Given the description of an element on the screen output the (x, y) to click on. 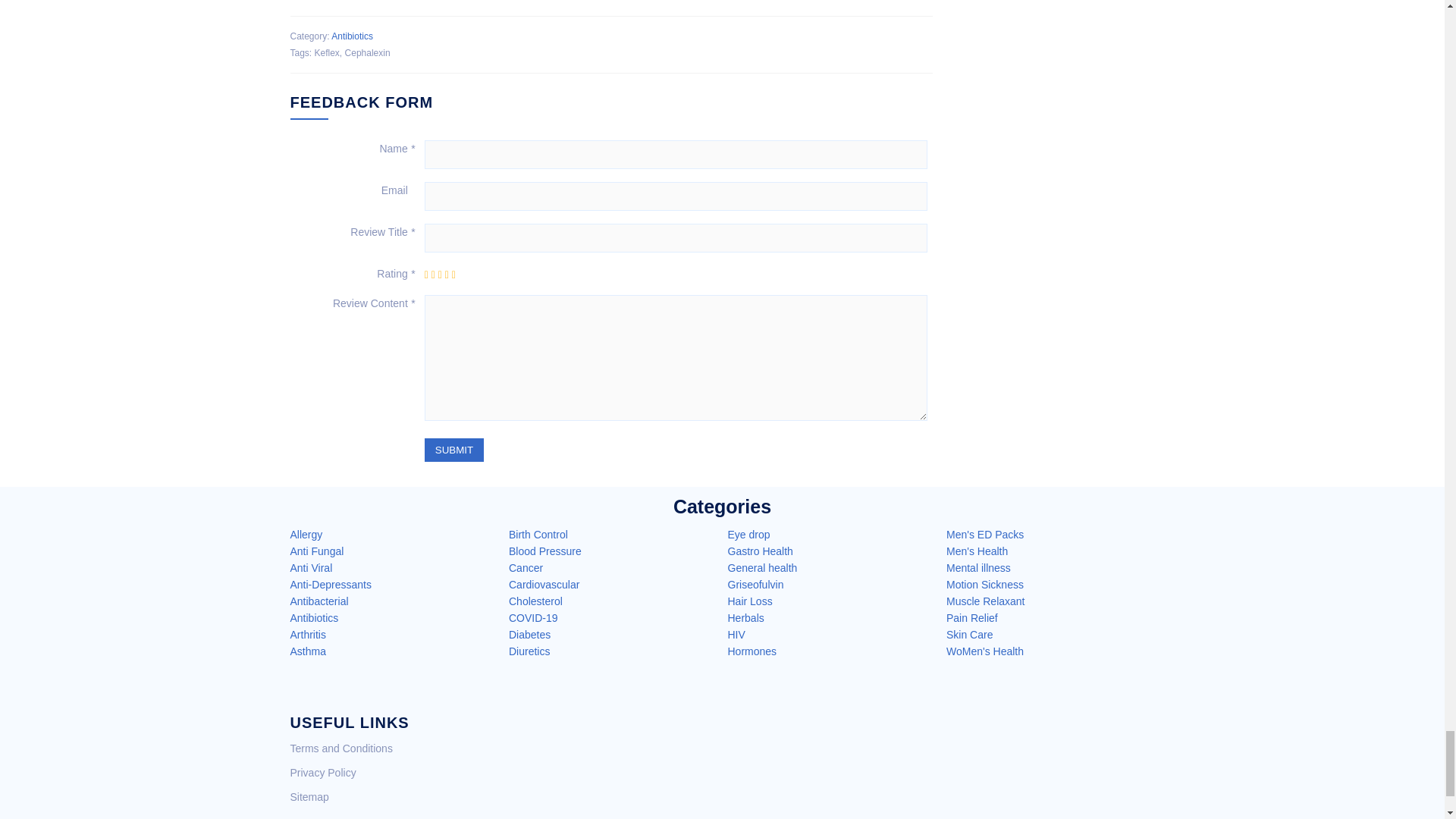
Cardiovascular (543, 584)
Birth Control (537, 534)
Cholesterol (535, 601)
Anti Viral (310, 567)
Diuretics (529, 651)
Cancer (525, 567)
Asthma (306, 651)
Anti-Depressants (330, 584)
Diabetes (529, 634)
COVID-19 (532, 617)
